Given the description of an element on the screen output the (x, y) to click on. 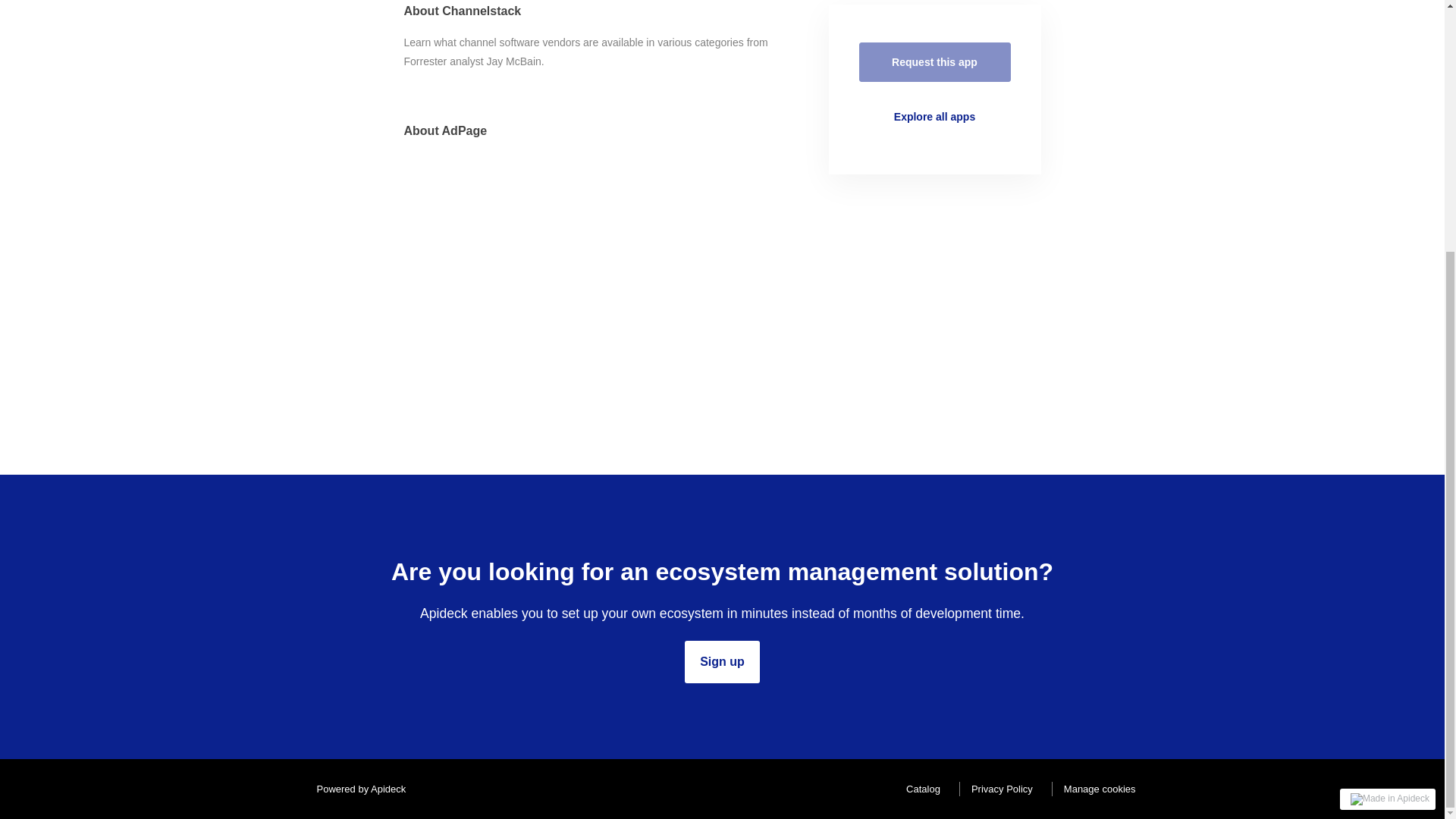
Manage cookies (1096, 789)
Sign up (722, 661)
Request this app (934, 61)
Catalog (919, 789)
Explore all apps (934, 116)
Privacy Policy (997, 789)
Powered by Apideck (356, 789)
